Given the description of an element on the screen output the (x, y) to click on. 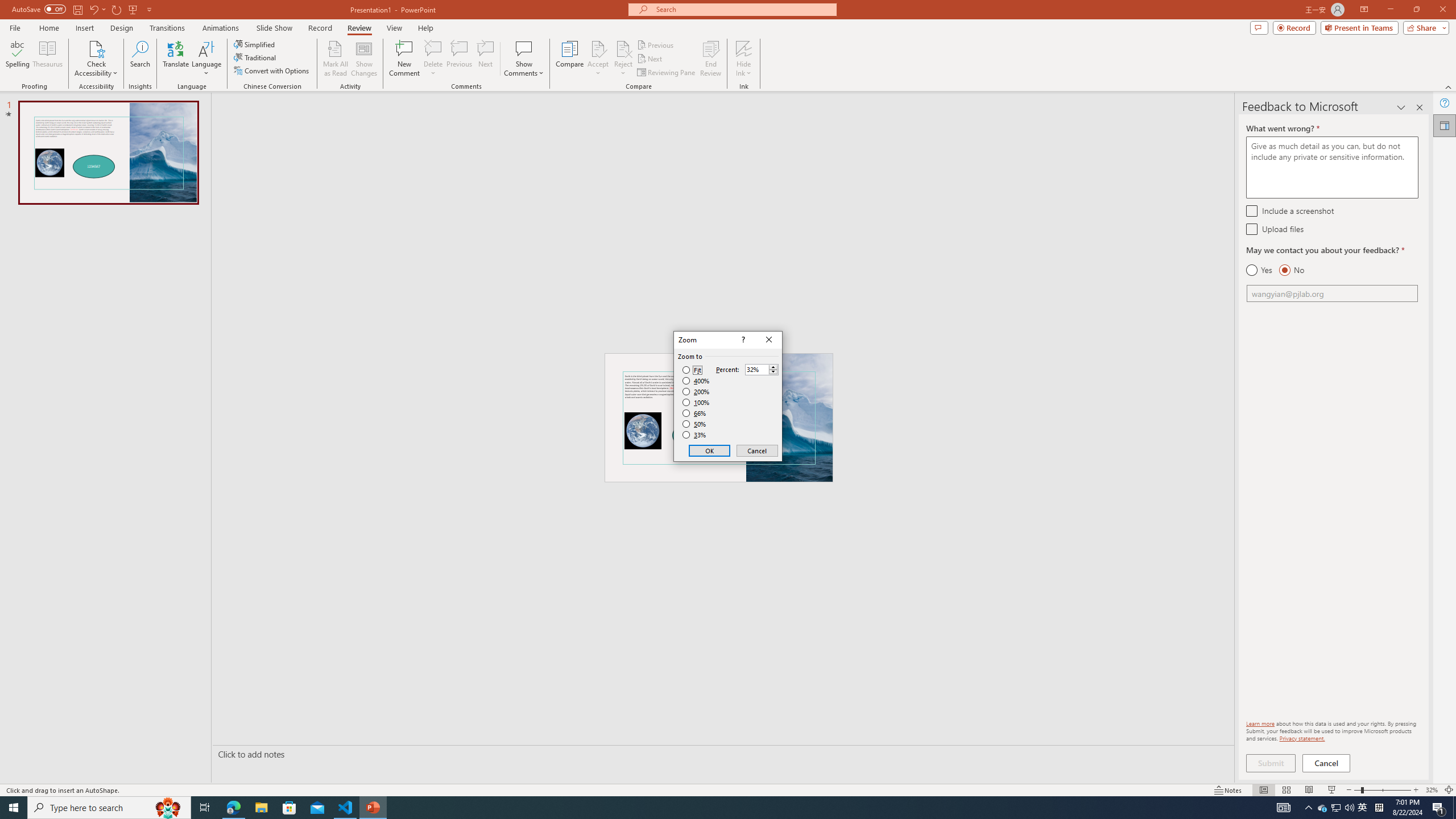
Action Center, 1 new notification (1439, 807)
Show Comments (524, 48)
66% (694, 412)
Percent (761, 369)
Reject (622, 58)
100% (696, 402)
Include a screenshot (1251, 210)
Submit (1270, 763)
